Given the description of an element on the screen output the (x, y) to click on. 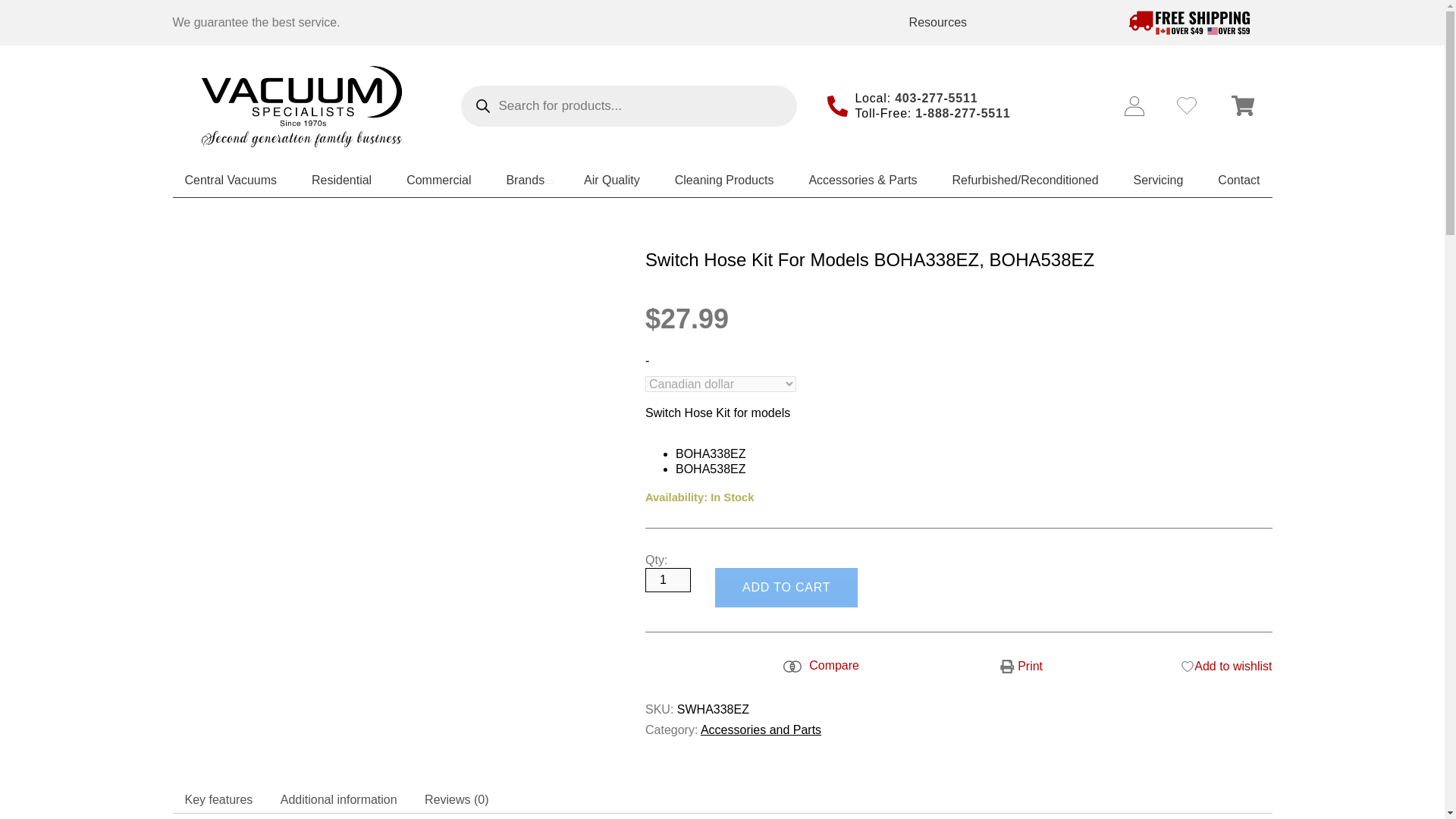
Add to wishlist (1225, 666)
Commercial (438, 178)
Qty (667, 580)
1-888-277-5511 (962, 113)
Brands (526, 178)
Central Vacuums (231, 178)
Residential (341, 178)
Resources (937, 22)
403-277-5511 (935, 97)
1 (667, 580)
